Given the description of an element on the screen output the (x, y) to click on. 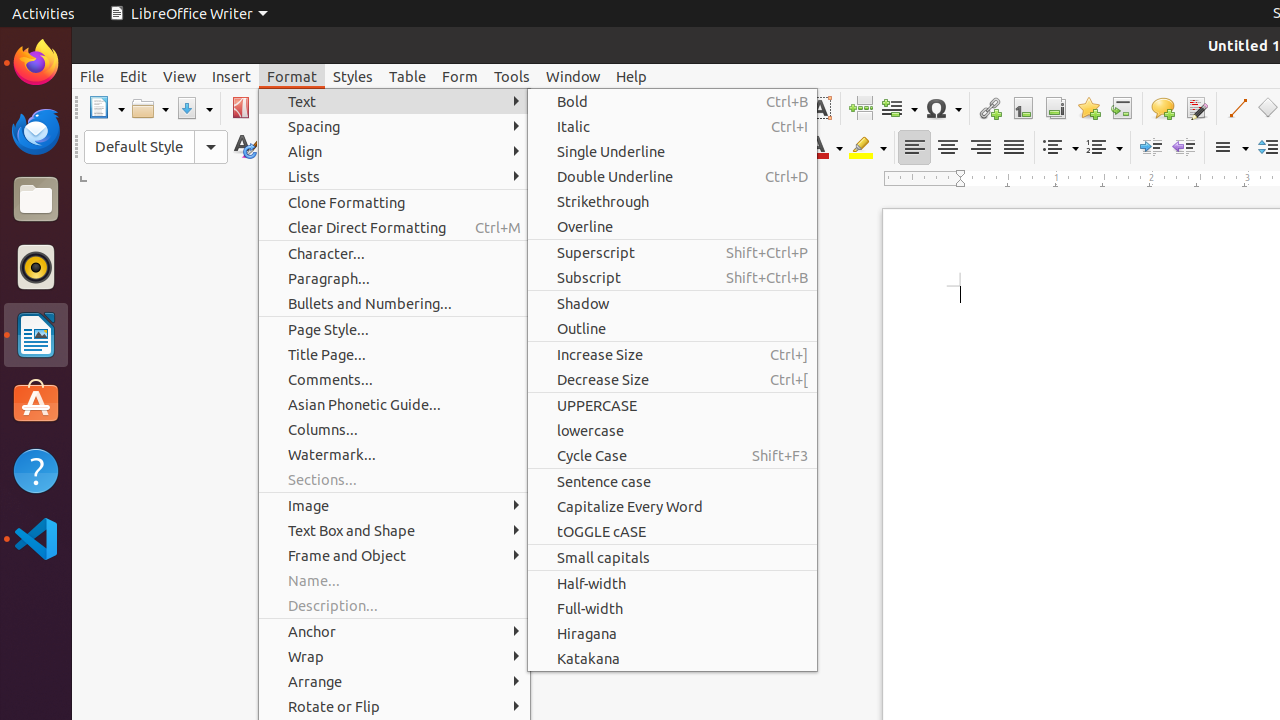
Window Element type: menu (573, 76)
Name... Element type: menu-item (394, 580)
Paragraph... Element type: menu-item (394, 278)
Redo Element type: push-button (556, 108)
Bullets and Numbering... Element type: menu-item (394, 303)
